Given the description of an element on the screen output the (x, y) to click on. 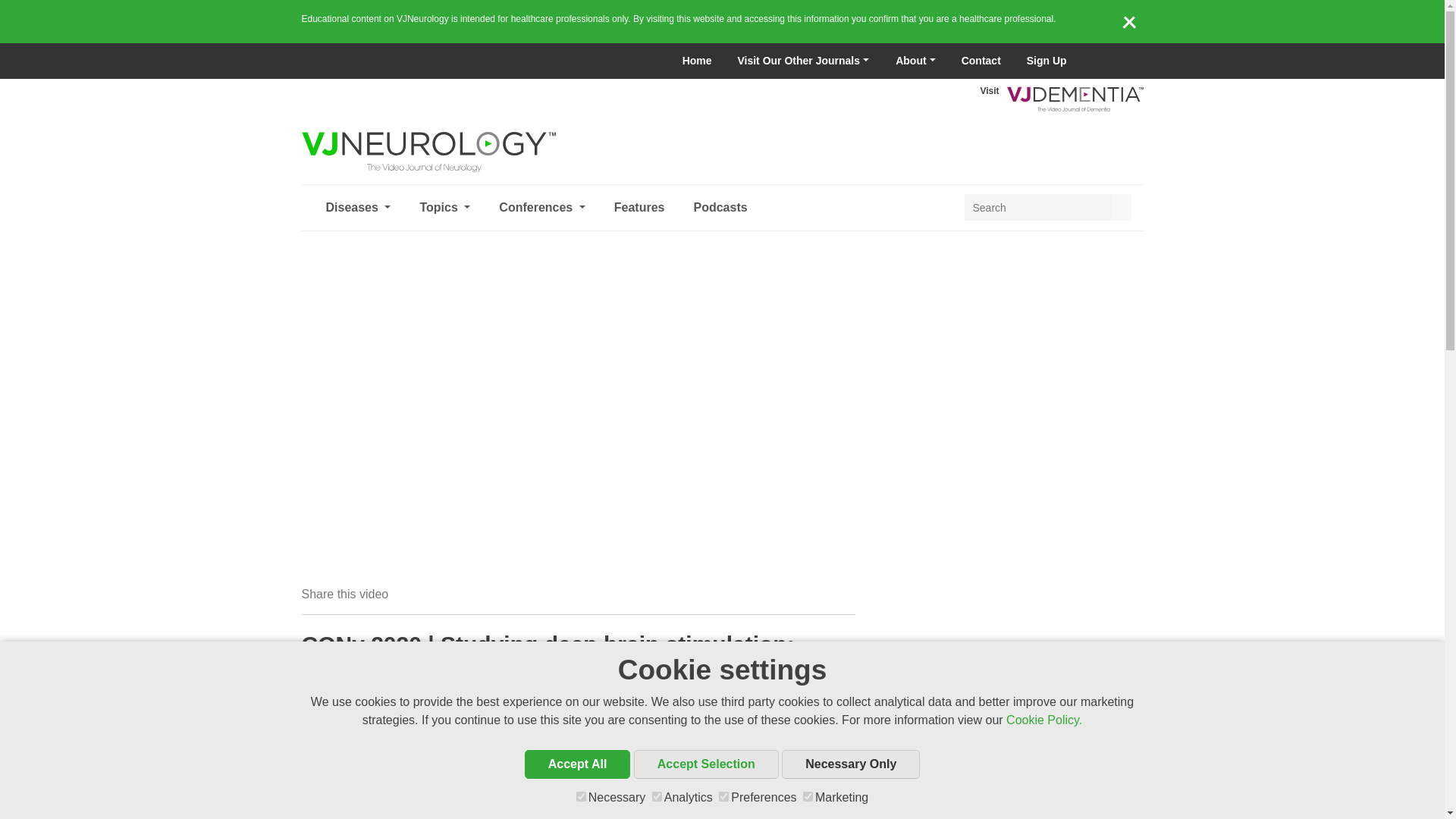
Visit Our Other Journals (802, 60)
Contact (980, 60)
Diseases (358, 207)
Twitter (1099, 61)
Analytics (657, 796)
About (915, 60)
Home (697, 60)
Sign Up (1046, 60)
Topics (444, 207)
Home (697, 60)
